Given the description of an element on the screen output the (x, y) to click on. 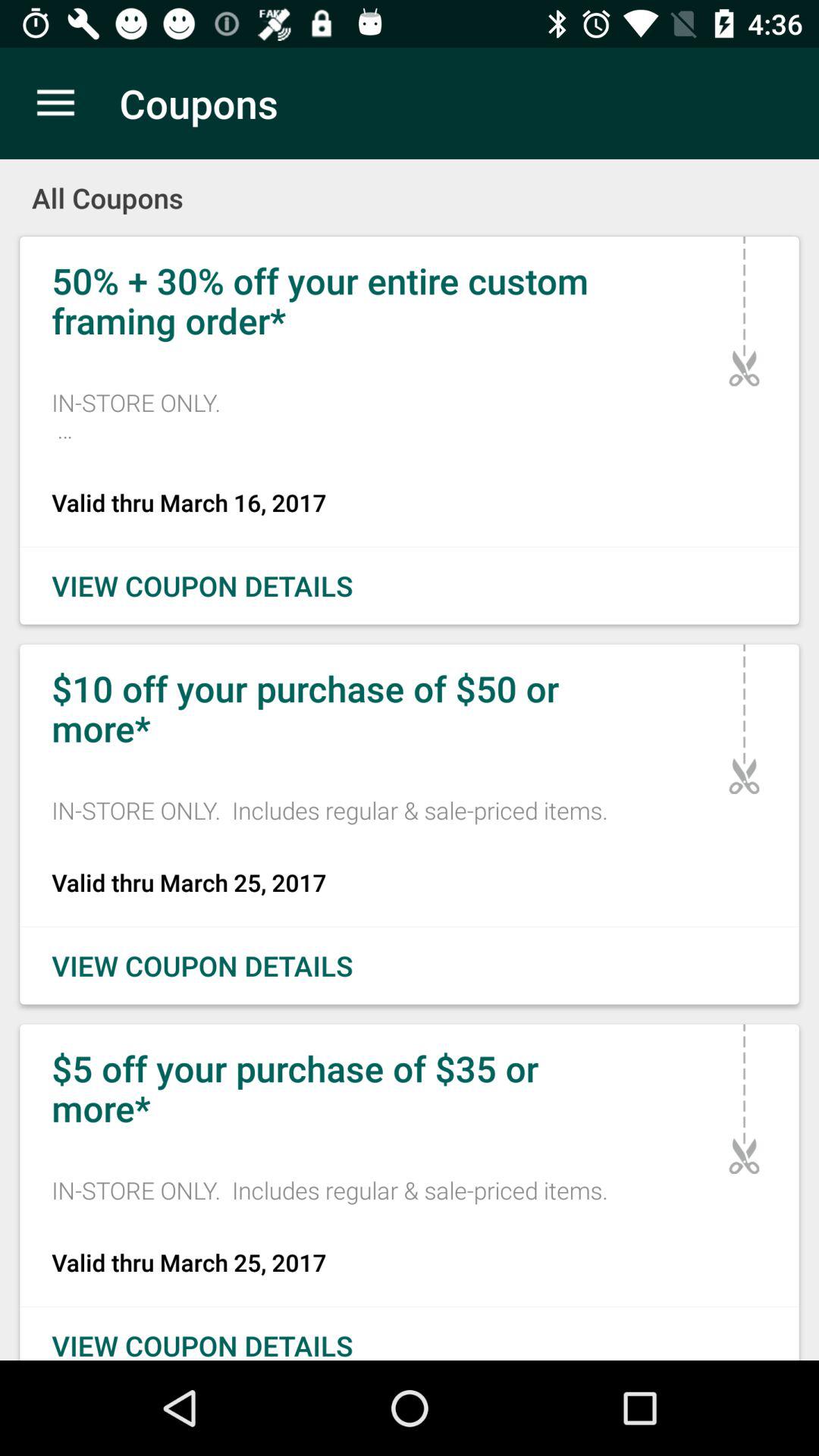
jump until the all coupons (409, 187)
